Given the description of an element on the screen output the (x, y) to click on. 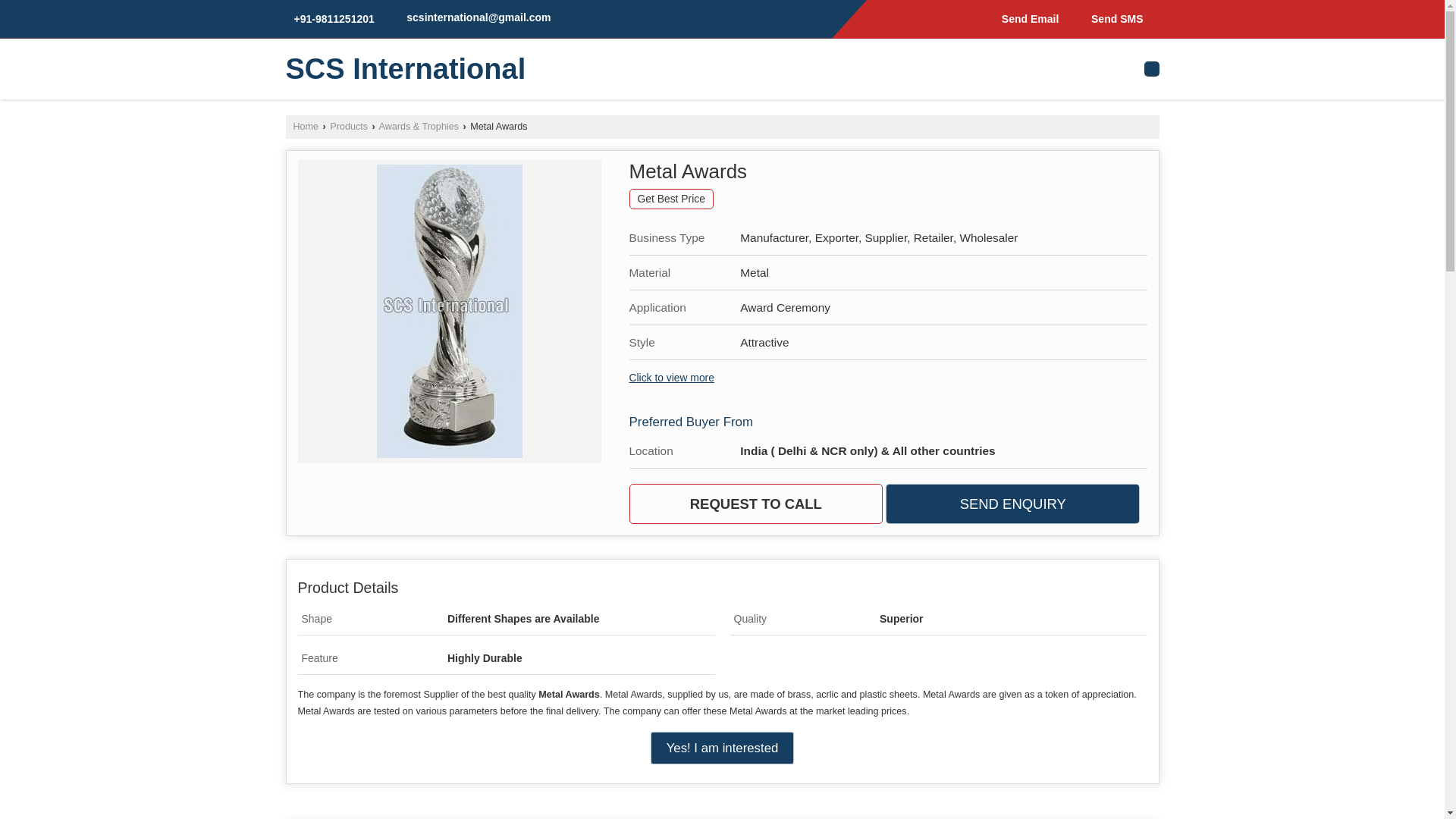
Send Email (1027, 18)
Search (1150, 68)
Send SMS (1113, 18)
SCS International (405, 68)
SCS International (405, 68)
